Given the description of an element on the screen output the (x, y) to click on. 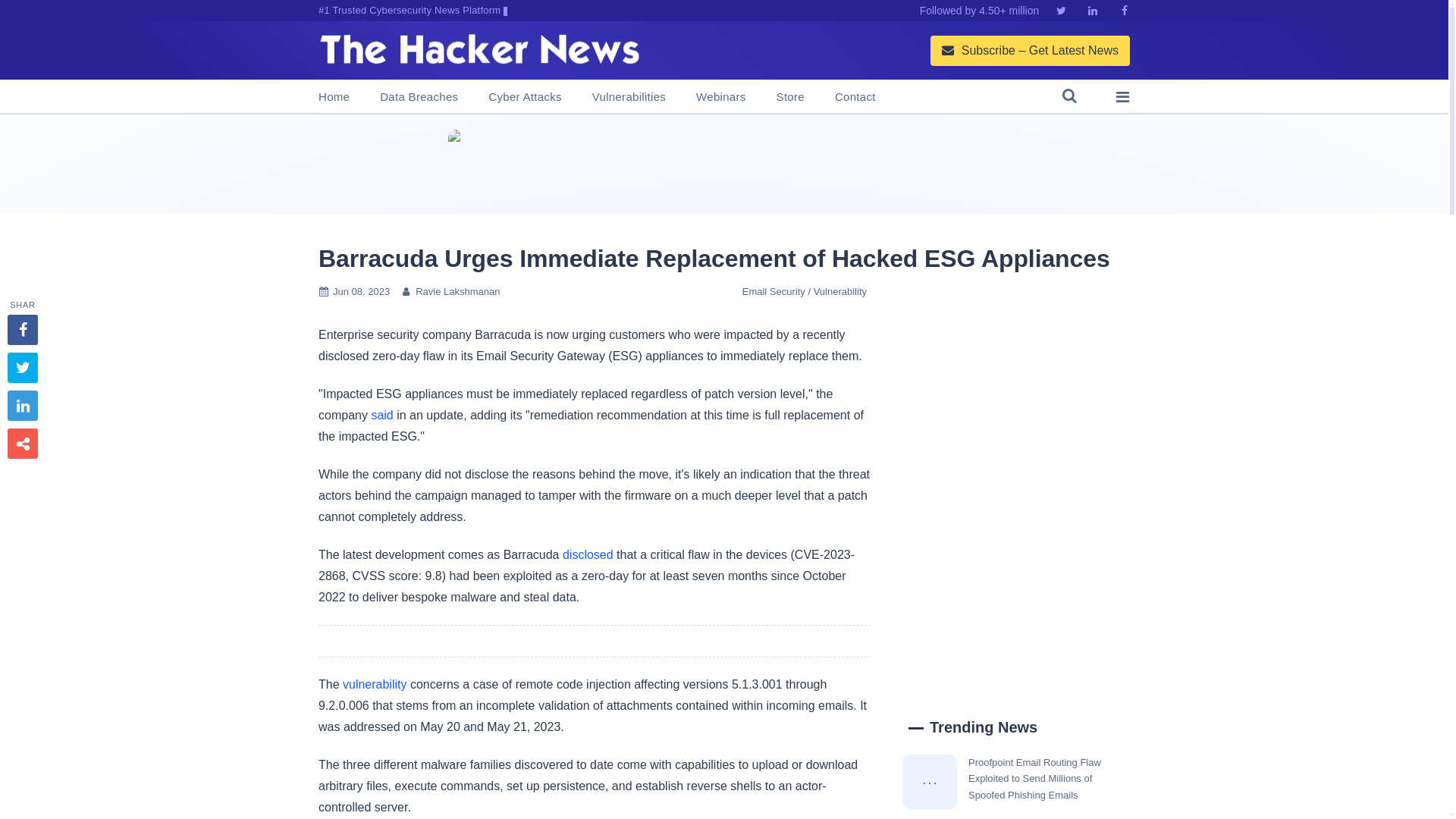
said (382, 414)
Cyber Attacks (523, 96)
Data Breaches (419, 96)
Insider Risk Management (723, 164)
Vulnerabilities (628, 96)
Home (333, 96)
vulnerability (374, 684)
Webinars (720, 96)
disclosed (587, 554)
Contact (855, 96)
